Given the description of an element on the screen output the (x, y) to click on. 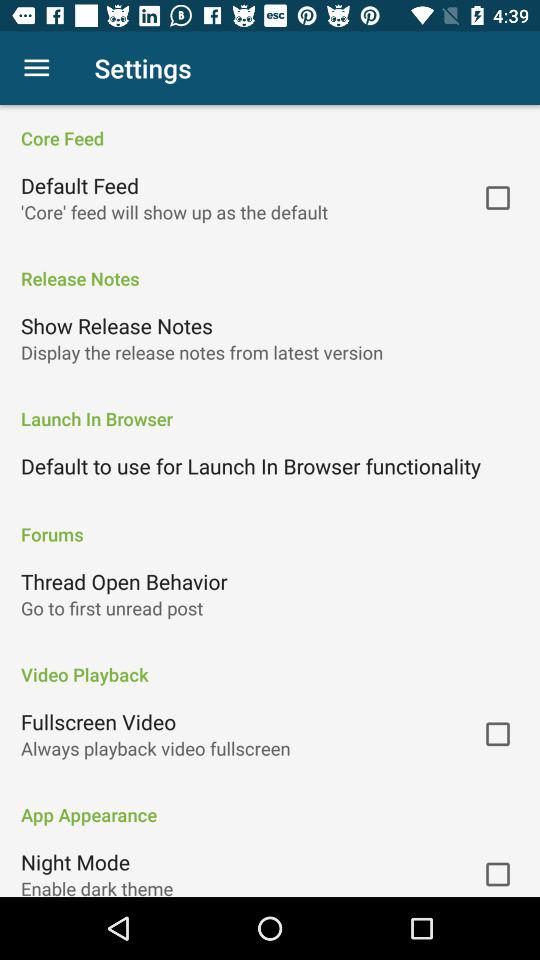
turn off the forums item (270, 523)
